Given the description of an element on the screen output the (x, y) to click on. 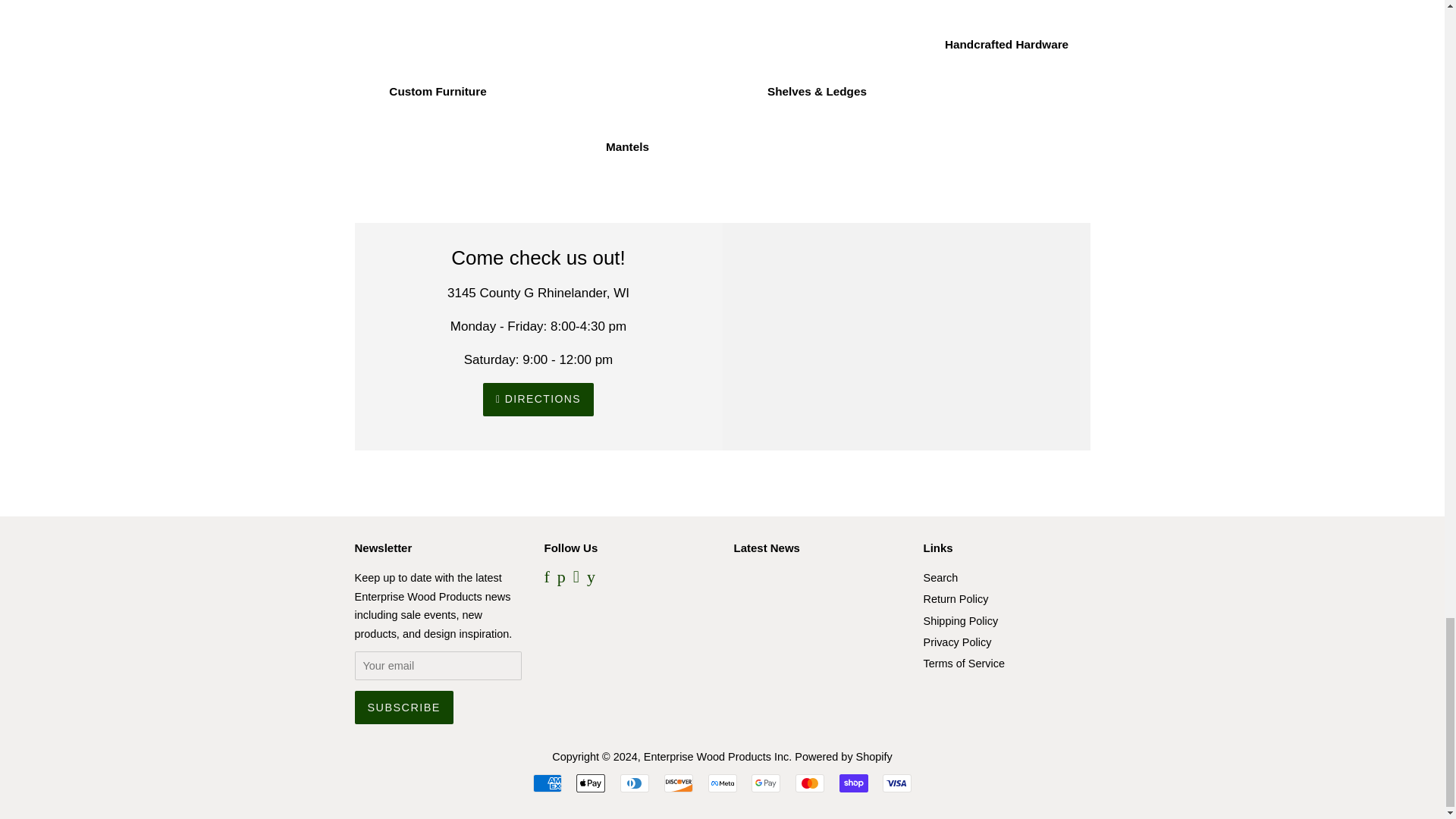
Shop Pay (853, 782)
Subscribe (403, 707)
Visa (896, 782)
Apple Pay (590, 782)
Browse our Custom Furniture collection (438, 63)
Discover (678, 782)
American Express (547, 782)
Browse our Handcrafted Hardware collection (1006, 39)
Google Pay (765, 782)
Browse our Mantels collection (627, 90)
